Given the description of an element on the screen output the (x, y) to click on. 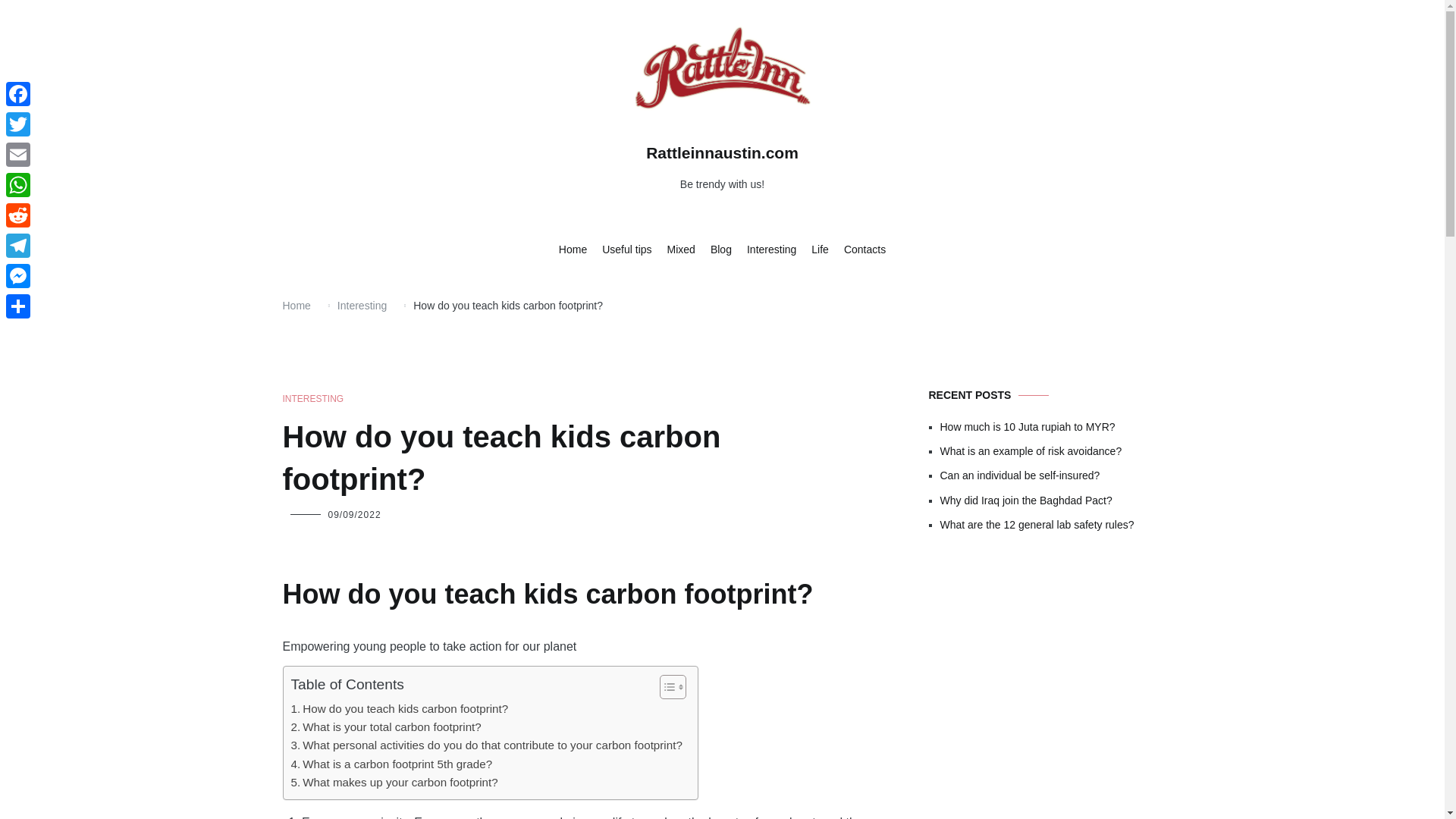
Twitter (17, 123)
Email (17, 154)
How do you teach kids carbon footprint? (399, 709)
What is your total carbon footprint? (386, 727)
INTERESTING (312, 399)
Interesting (771, 249)
Blog (721, 249)
WhatsApp (17, 184)
What is your total carbon footprint? (386, 727)
How much is 10 Juta rupiah to MYR? (1050, 426)
Useful tips (626, 249)
Home (572, 249)
Reddit (17, 214)
Rattleinnaustin.com (721, 152)
What is a carbon footprint 5th grade? (392, 764)
